Given the description of an element on the screen output the (x, y) to click on. 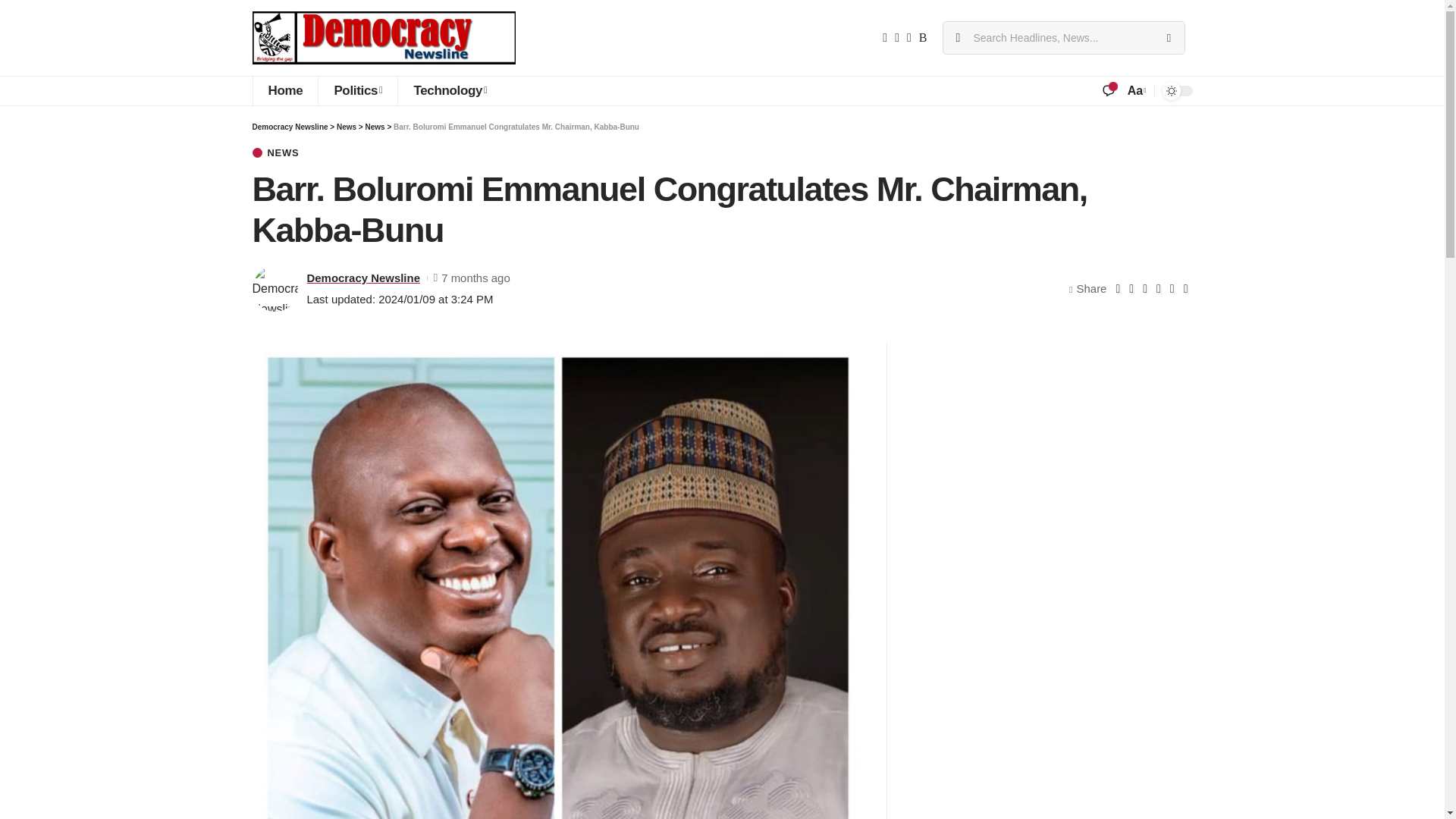
Home (284, 91)
Search (1168, 37)
Technology (449, 91)
Politics (357, 91)
Democracy Newsline (383, 37)
